Given the description of an element on the screen output the (x, y) to click on. 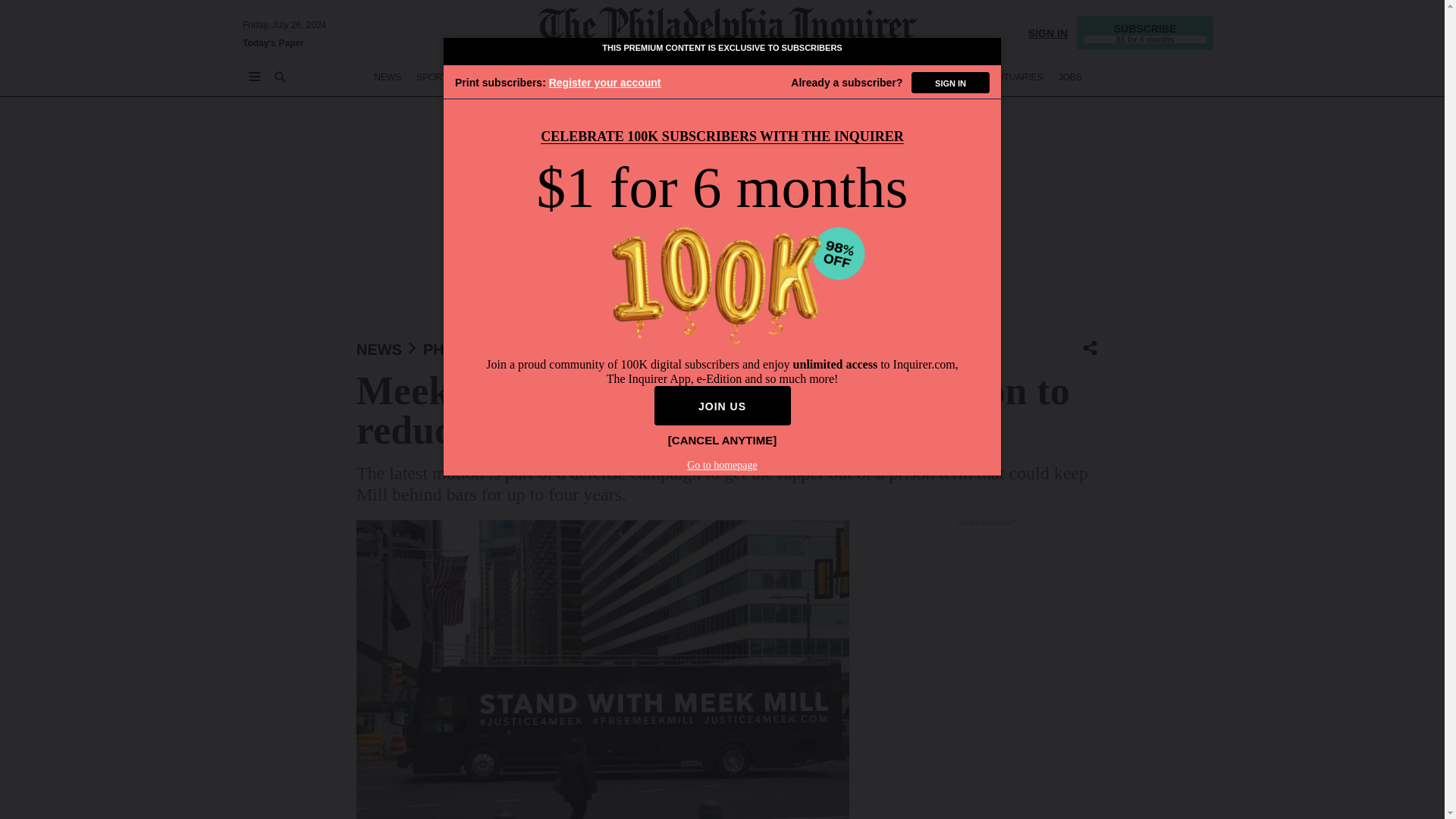
JOBS (1069, 77)
PHILADELPHIA (479, 348)
LIFE (795, 77)
REAL ESTATE (942, 77)
Today's Paper (273, 42)
NEWS (378, 348)
FOOD (834, 77)
SIGN IN (1047, 32)
Share Icon (1090, 348)
BUSINESS (545, 77)
SPORTS (434, 77)
Share Icon (1090, 349)
POLITICS (659, 77)
ENTERTAINMENT (732, 77)
